Given the description of an element on the screen output the (x, y) to click on. 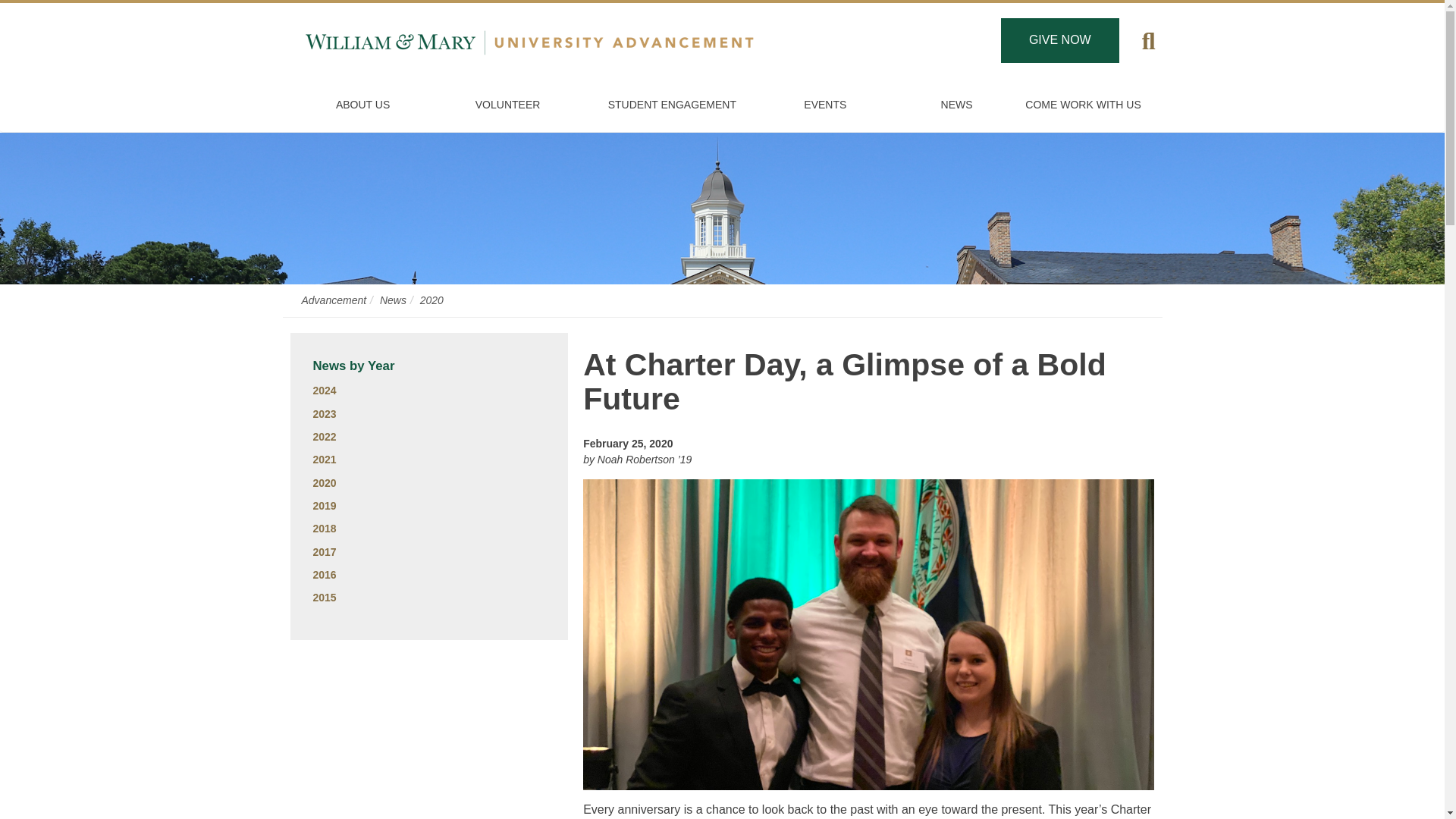
Events (824, 104)
EVENTS (824, 104)
About Us (362, 104)
2024 (324, 390)
GIVE NOW (1060, 40)
2022 (324, 436)
Advancement (333, 300)
News (393, 300)
News (956, 104)
2020 (432, 300)
Come Work With Us (1083, 104)
COME WORK WITH US (1083, 104)
2023 (324, 413)
NEWS (956, 104)
ABOUT US (362, 104)
